Given the description of an element on the screen output the (x, y) to click on. 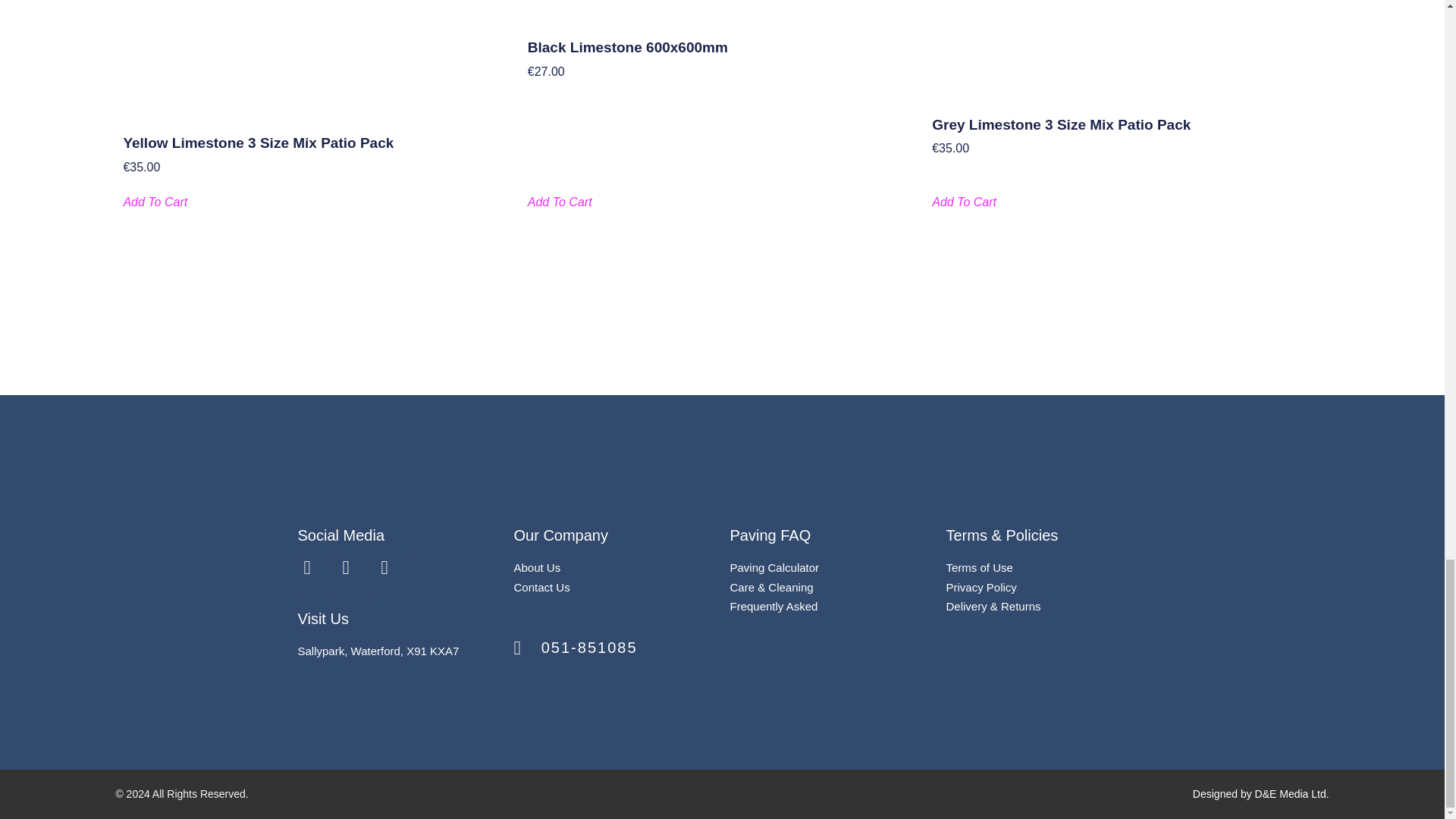
Frequently Asked (772, 605)
Add To Cart (963, 202)
Privacy Policy (981, 586)
About Us (536, 567)
Add To Cart (559, 202)
Terms of Use (979, 567)
Add To Cart (154, 202)
Contact Us (541, 586)
